Given the description of an element on the screen output the (x, y) to click on. 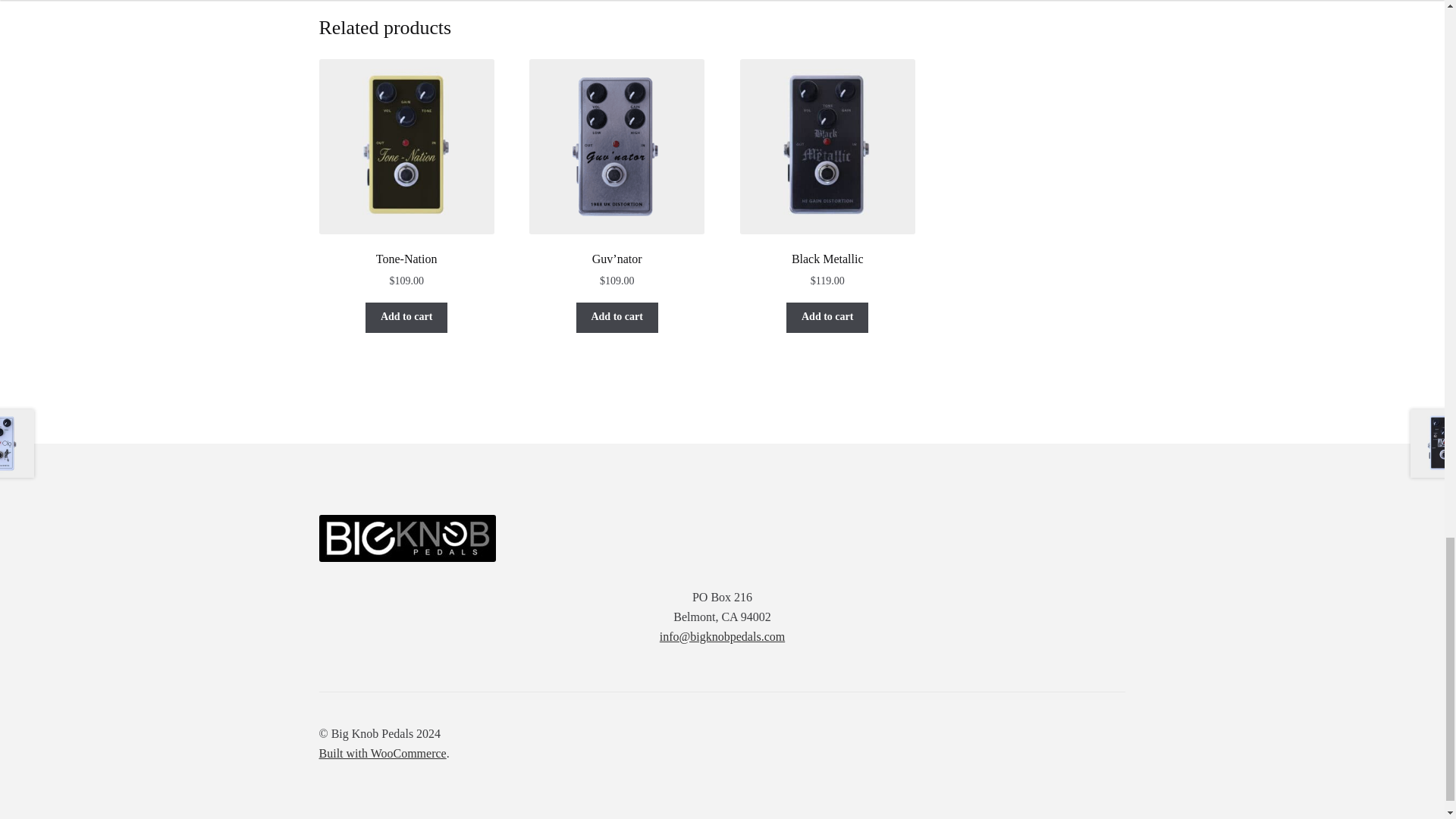
Add to cart (617, 317)
Add to cart (826, 317)
WooCommerce - The Best eCommerce Platform for WordPress (382, 753)
Add to cart (405, 317)
